Given the description of an element on the screen output the (x, y) to click on. 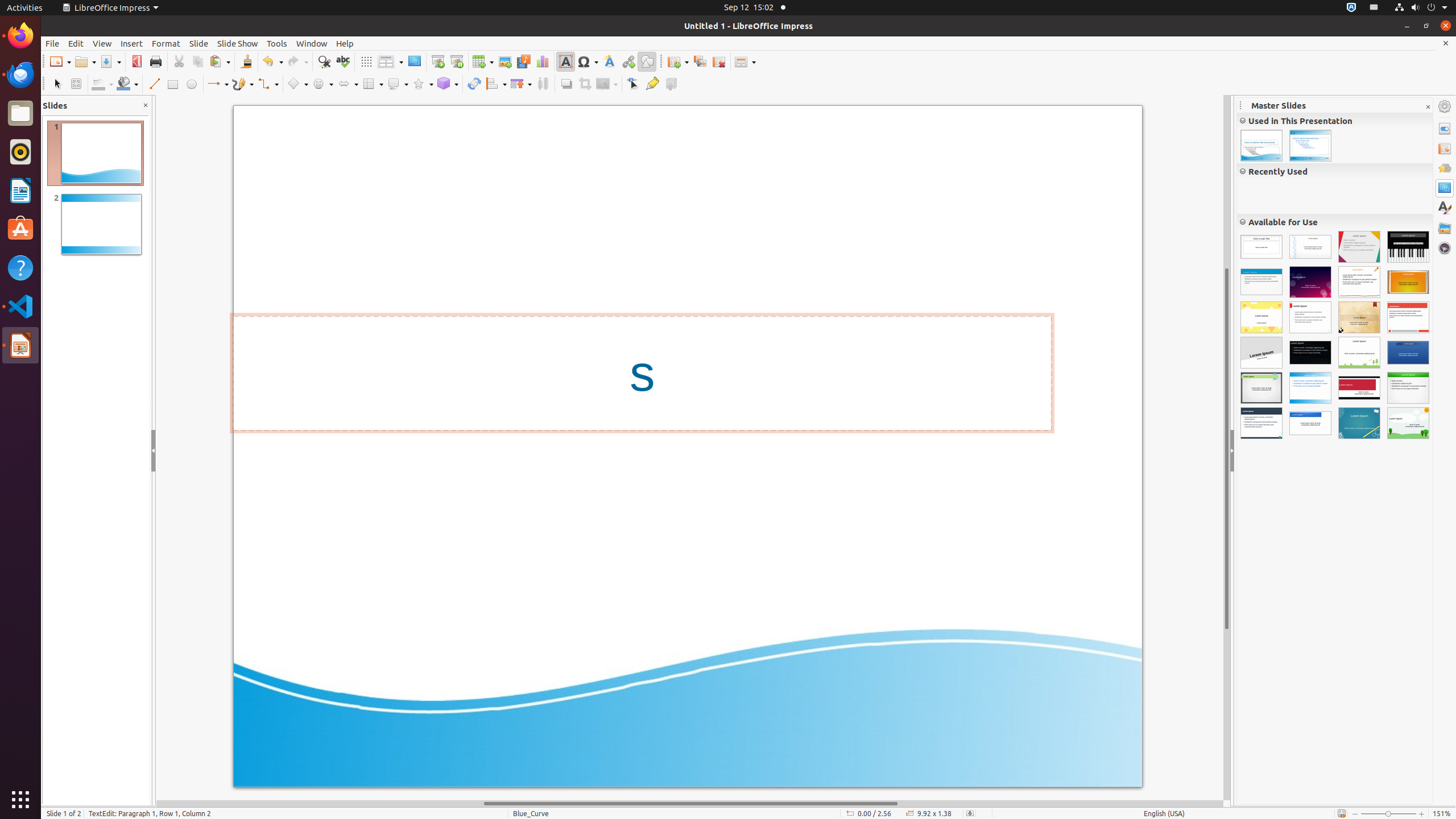
Styles Element type: radio-button (1444, 208)
Curves and Polygons Element type: push-button (242, 83)
Align Element type: push-button (495, 83)
Pencil Element type: list-item (1358, 281)
Hyperlink Element type: toggle-button (627, 61)
